Given the description of an element on the screen output the (x, y) to click on. 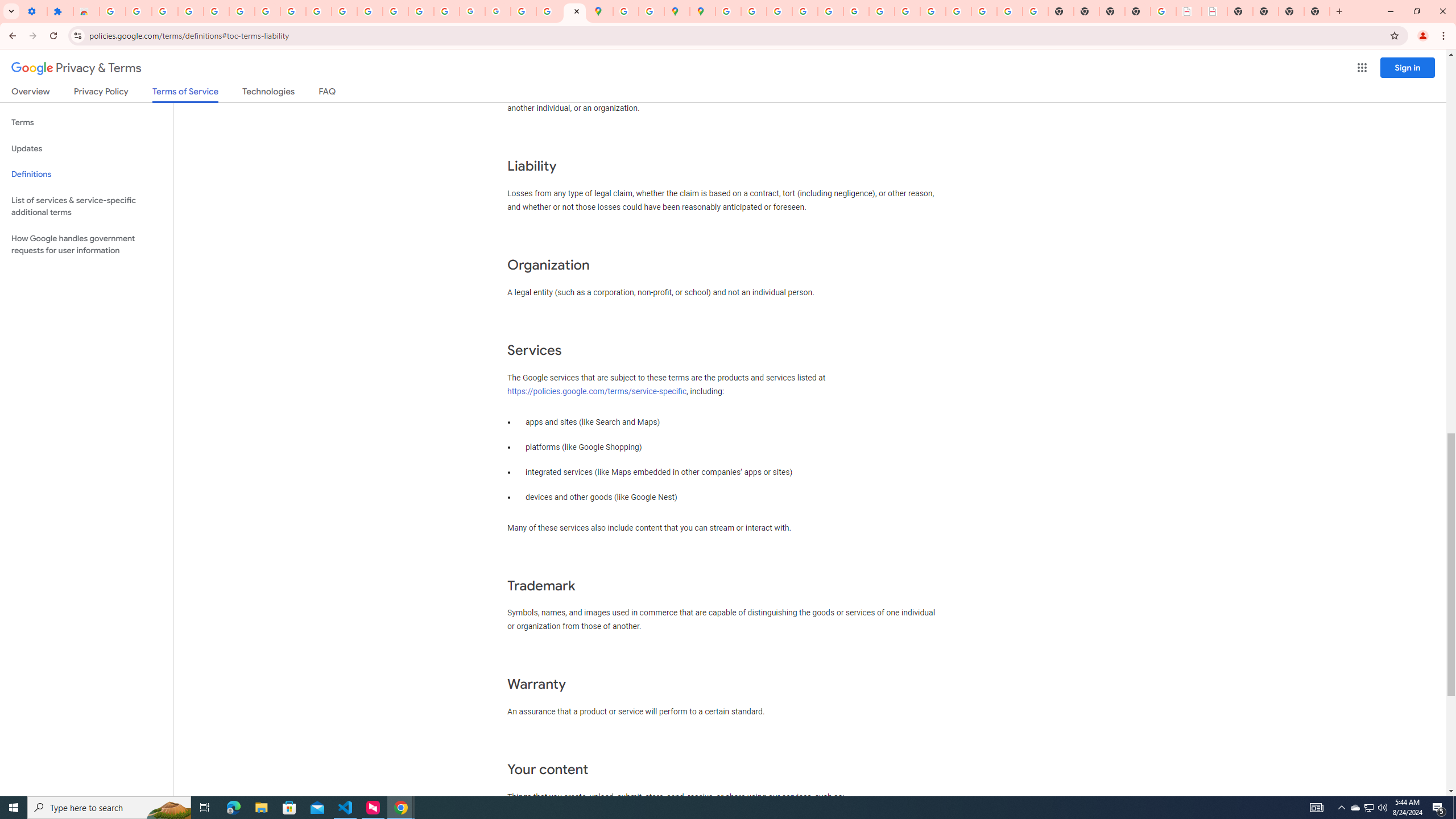
Learn how to find your photos - Google Photos Help (190, 11)
